Given the description of an element on the screen output the (x, y) to click on. 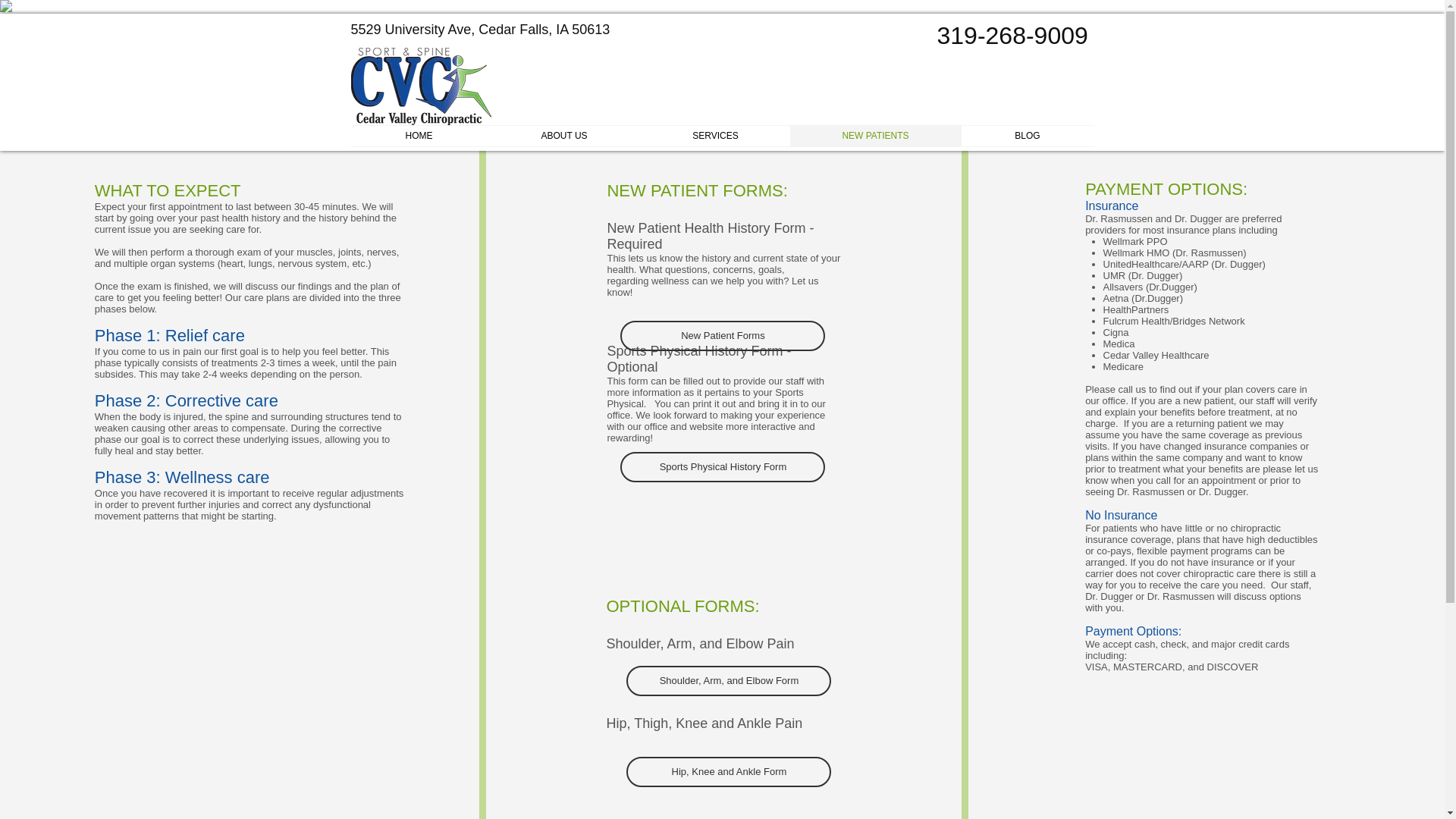
Hip, Knee and Ankle Form (728, 771)
SERVICES (716, 136)
ABOUT US (563, 136)
Sports Physical History Form (722, 467)
Shoulder, Arm, and Elbow Form (728, 680)
NEW PATIENTS (875, 136)
BLOG (1027, 136)
HOME (418, 136)
New Patient Forms (722, 336)
